Given the description of an element on the screen output the (x, y) to click on. 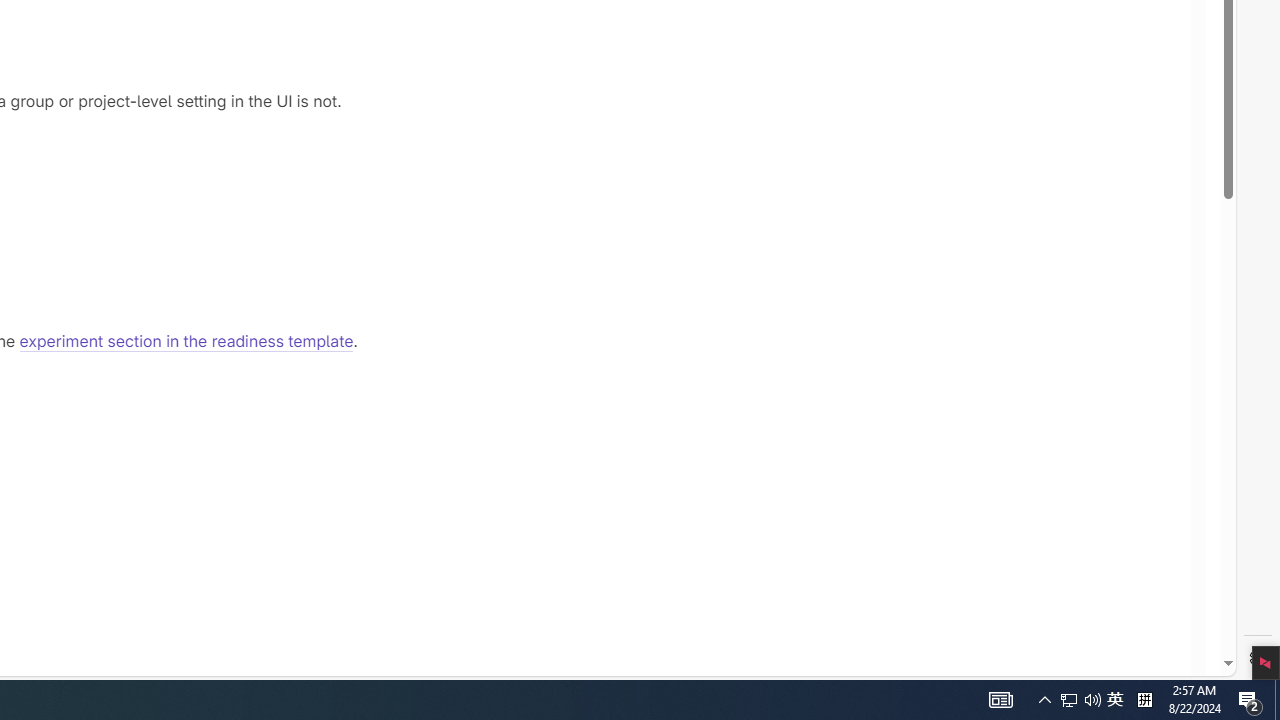
experiment section in the readiness template (186, 341)
